Given the description of an element on the screen output the (x, y) to click on. 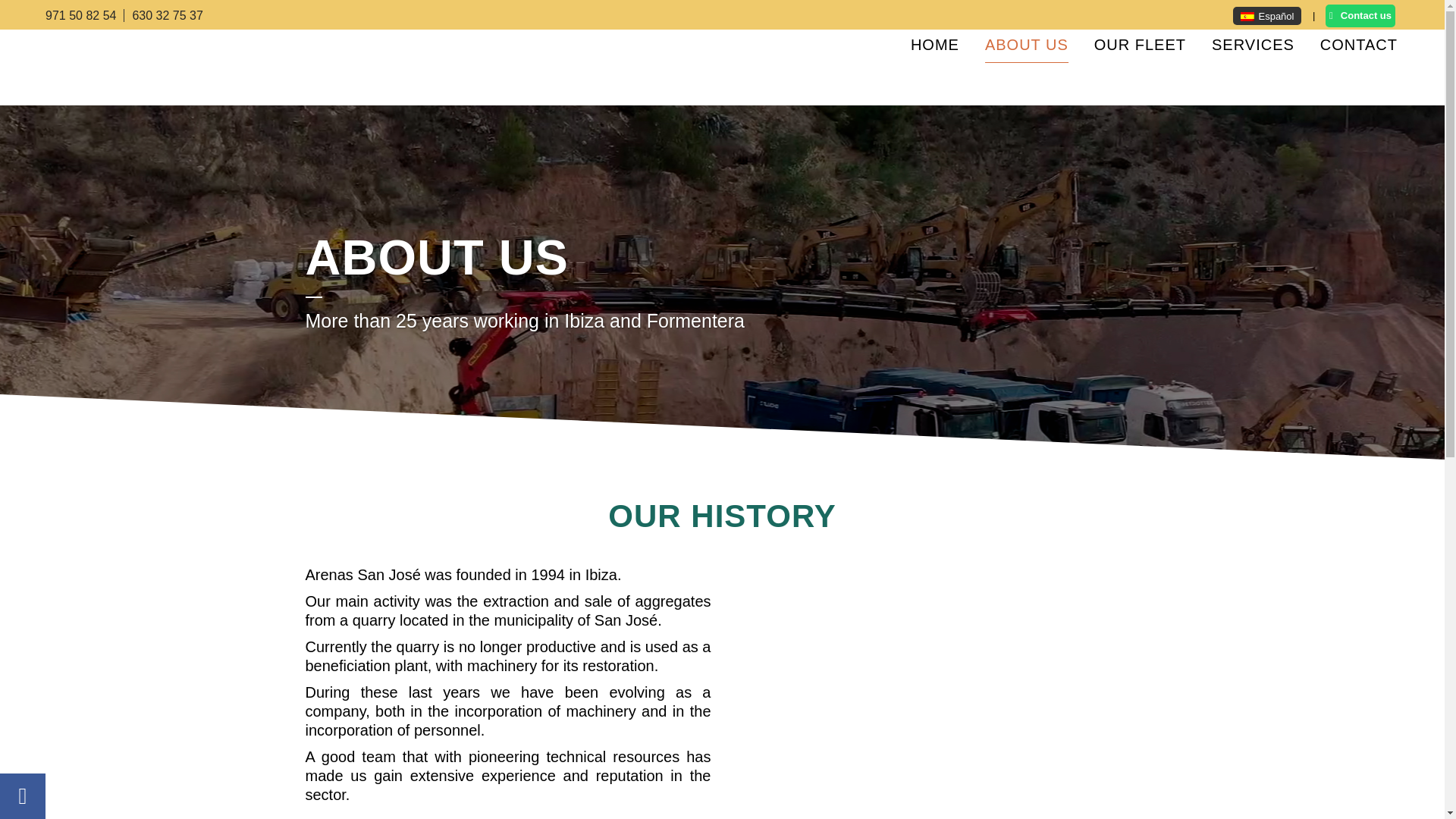
971 50 82 54 (84, 15)
Contact us (1359, 15)
HOME (935, 44)
630 32 75 37 (167, 15)
ABOUT US (1026, 44)
CONTACT (1358, 44)
SERVICES (1252, 44)
Arenas San Jose (381, 712)
OUR FLEET (1139, 44)
